Given the description of an element on the screen output the (x, y) to click on. 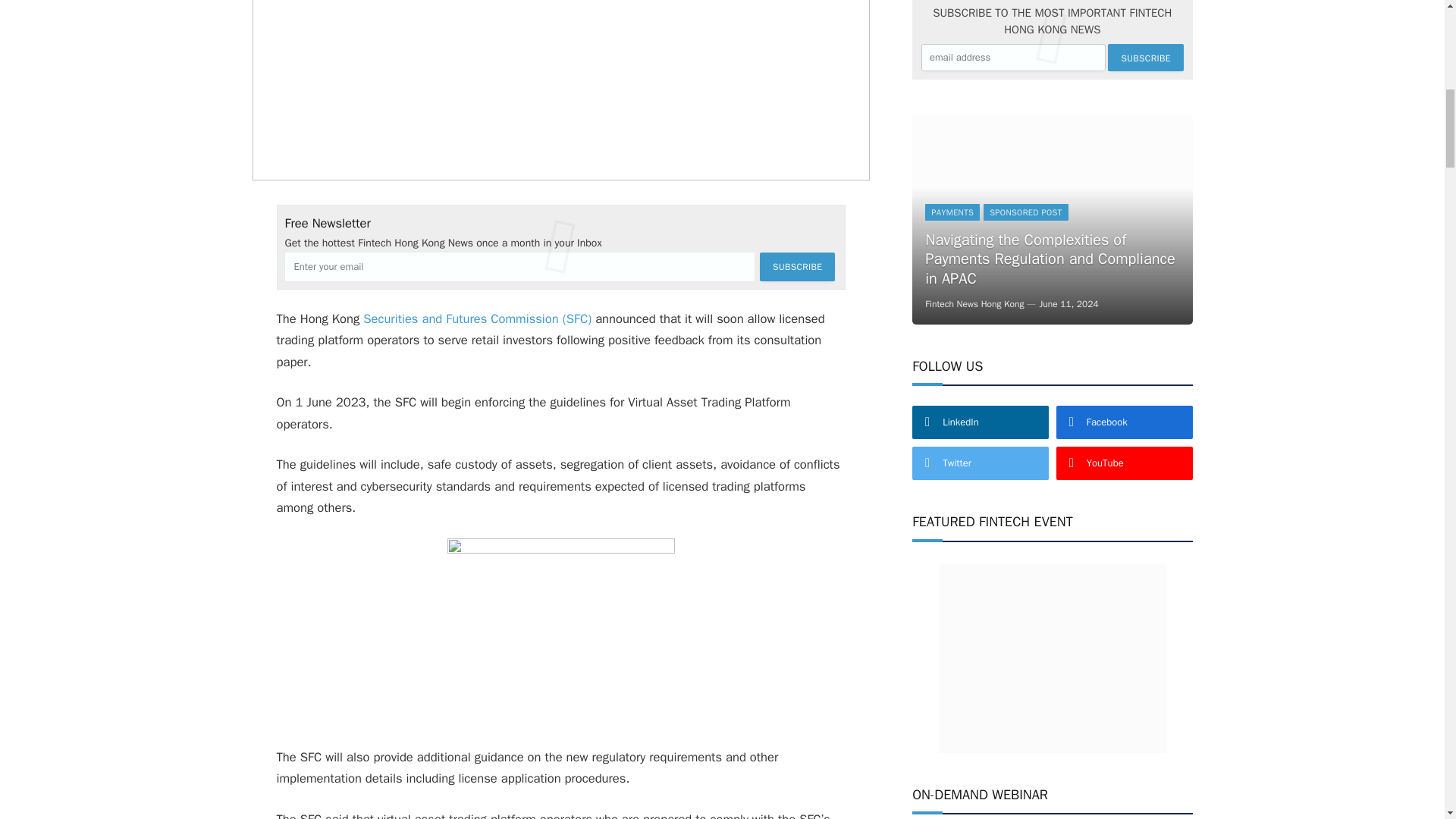
Subscribe (1145, 57)
Subscribe (797, 266)
